Given the description of an element on the screen output the (x, y) to click on. 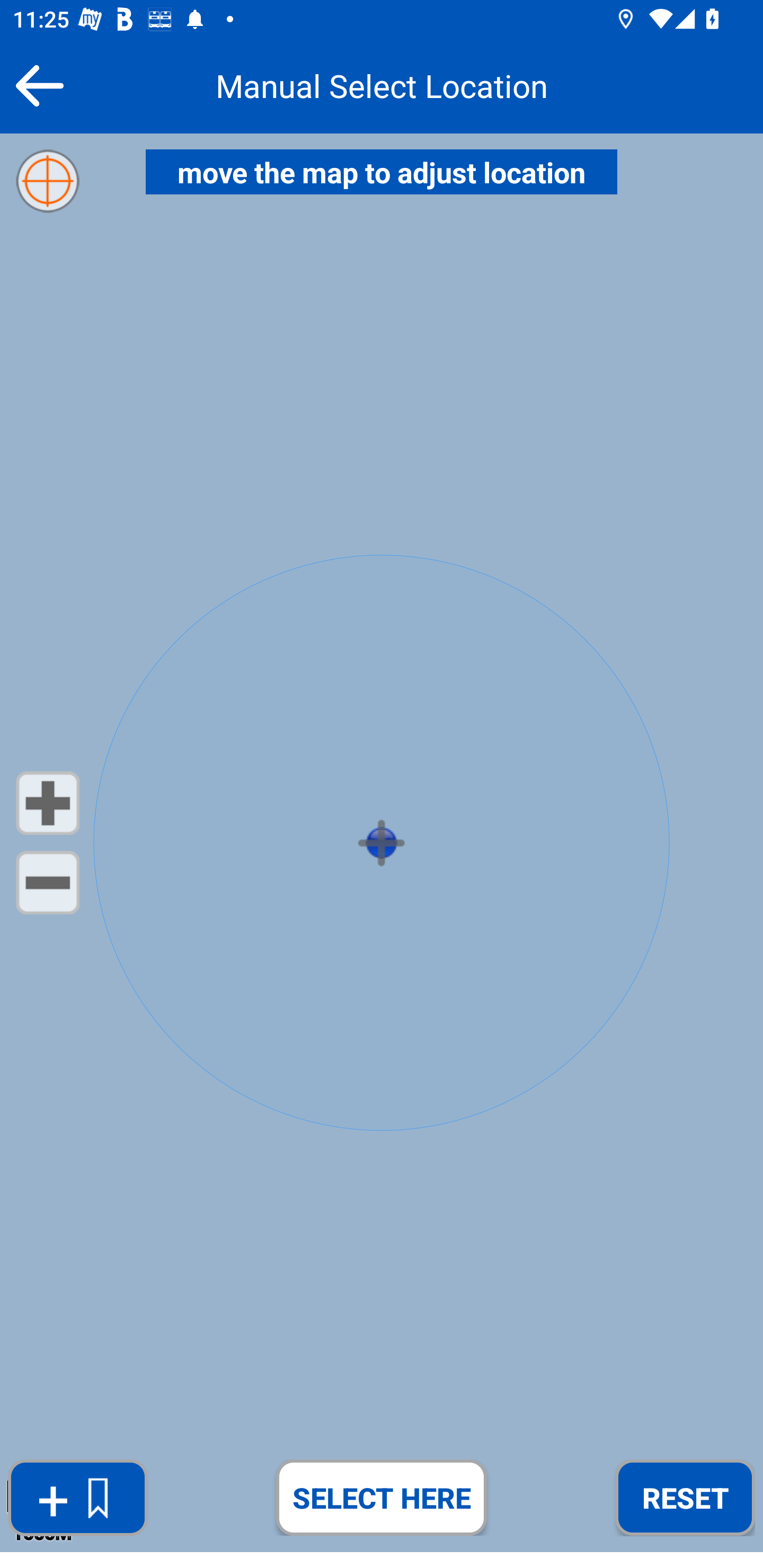
Back (39, 85)
Add bookmark (77, 1497)
SELECT HERE (381, 1497)
RESET (684, 1497)
